Given the description of an element on the screen output the (x, y) to click on. 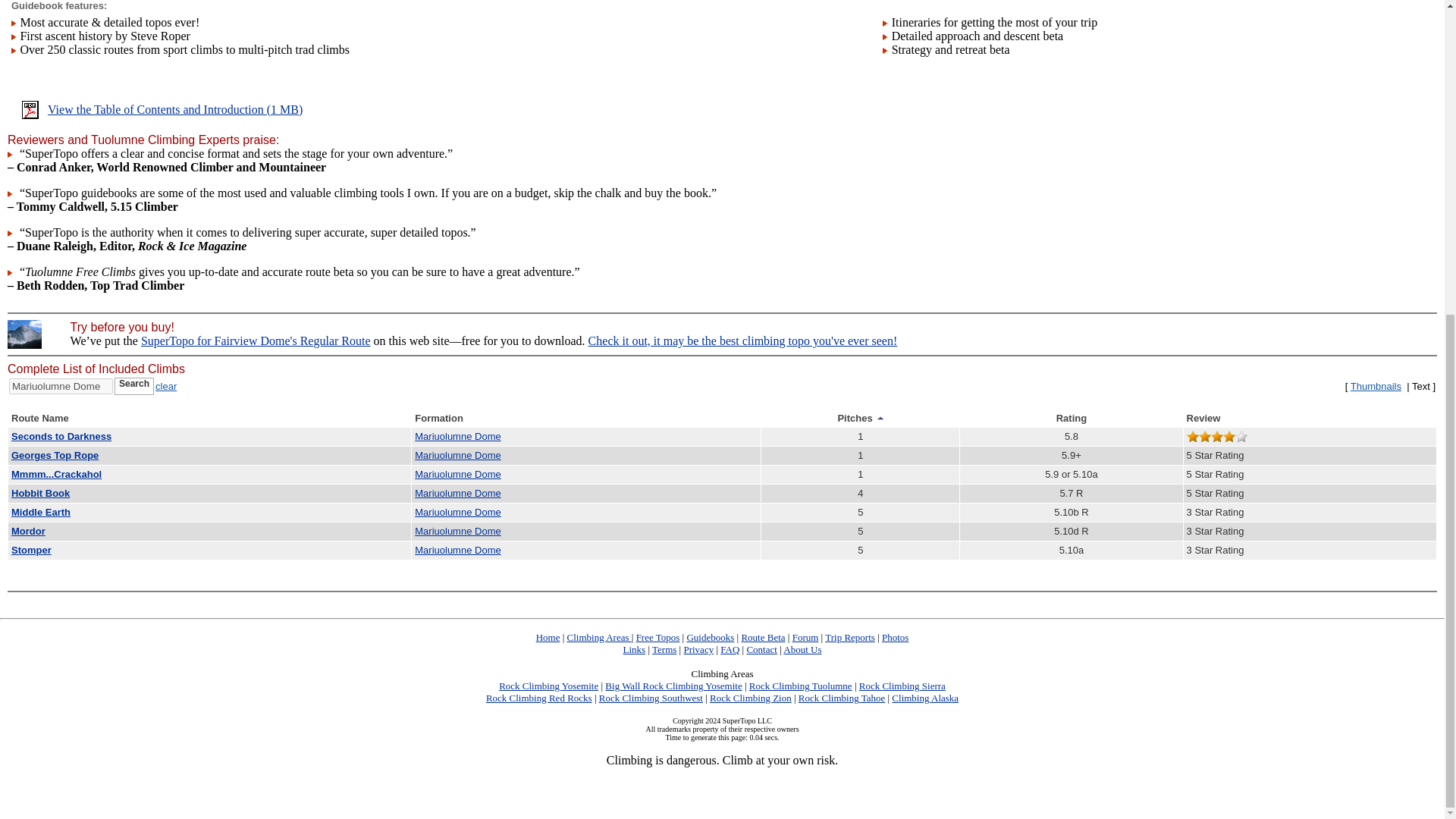
Hobbit Book (40, 492)
Rating (1071, 418)
Review (1203, 418)
Middle Earth (40, 511)
Mmmm...Crackahol (56, 473)
Thumbnails (1375, 386)
Mariuolumne Dome (457, 473)
Mariuolumne Dome (457, 436)
Route Name (39, 418)
Mariuolumne Dome (457, 511)
Georges Top Rope (55, 455)
Mariuolumne Dome (457, 455)
Search (134, 385)
Formation (438, 418)
